Given the description of an element on the screen output the (x, y) to click on. 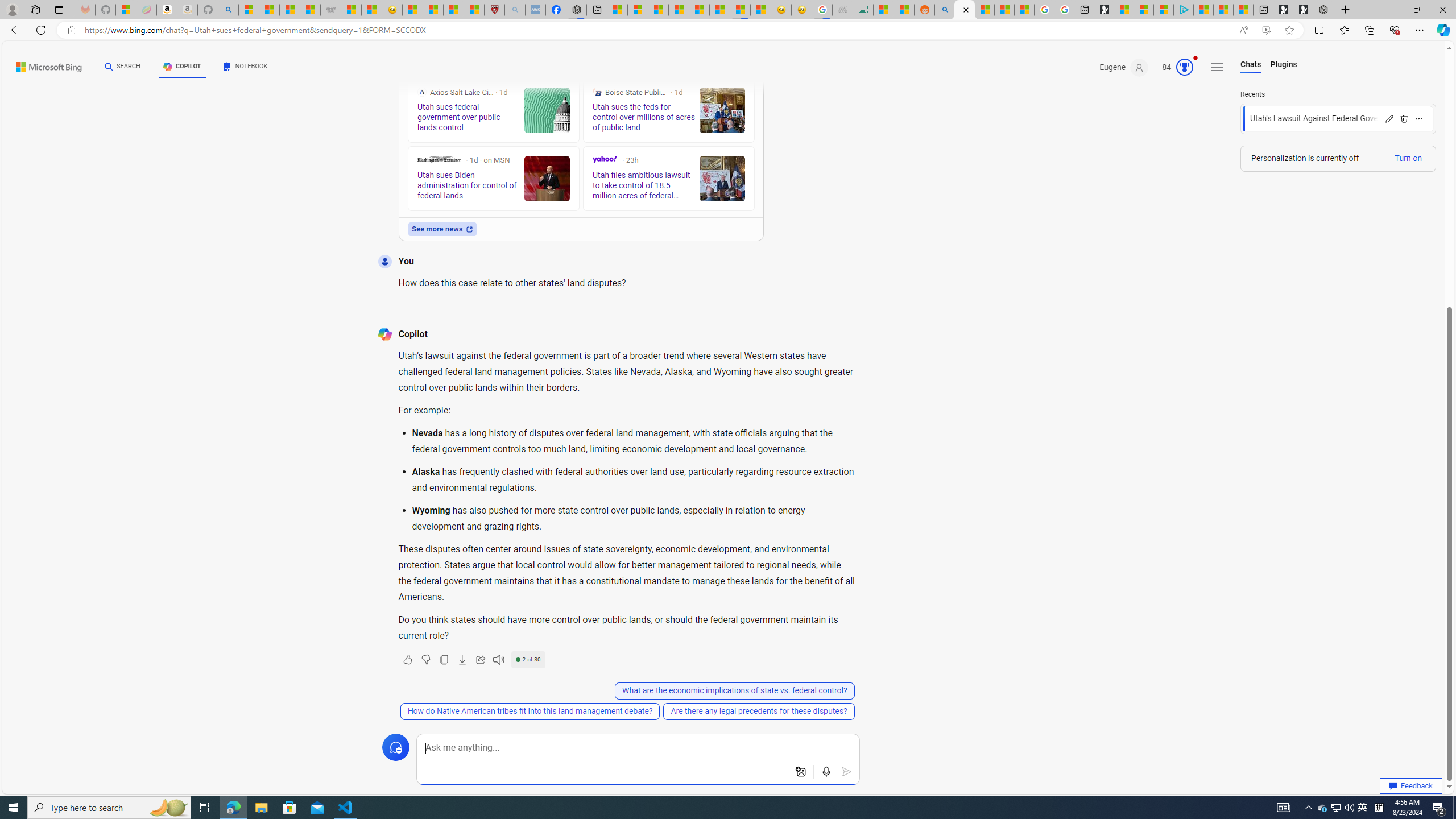
COPILOT (181, 68)
Utah sues federal government over public lands control (546, 109)
Yahoo (604, 158)
SEARCH (122, 66)
Washington Examiner on MSN.com (438, 158)
SEARCH (122, 66)
Load chat (1337, 118)
Boise State Public Radio (596, 91)
Settings and quick links (1217, 67)
